Given the description of an element on the screen output the (x, y) to click on. 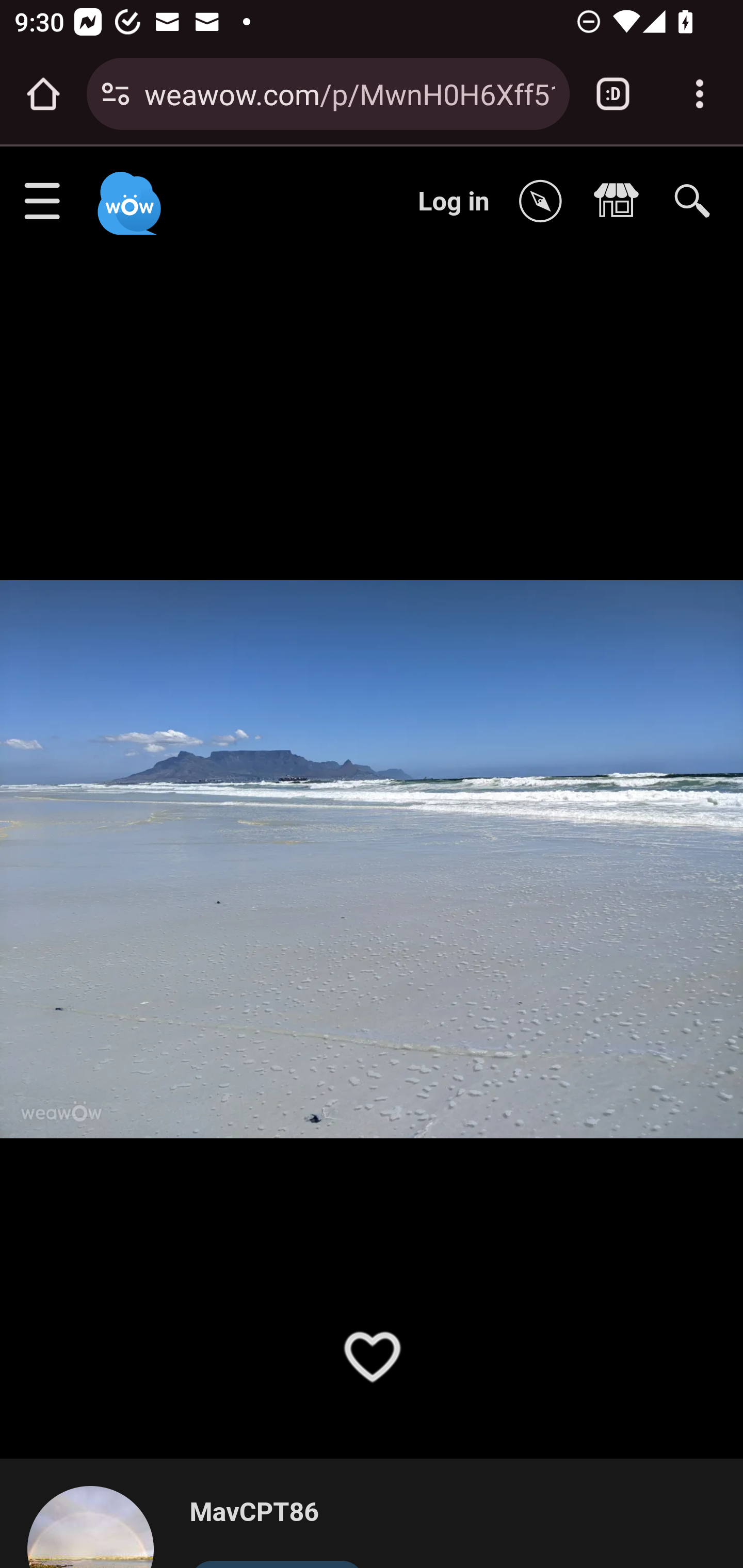
Open the home page (43, 93)
Connection is secure (115, 93)
Switch or close tabs (612, 93)
Customize and control Google Chrome (699, 93)
weawow.com/p/MwnH0H6Xff516563 (349, 92)
Weawow (127, 194)
 (545, 201)
 (621, 201)
Log in (453, 201)
MavCPT86 (275, 1513)
